Given the description of an element on the screen output the (x, y) to click on. 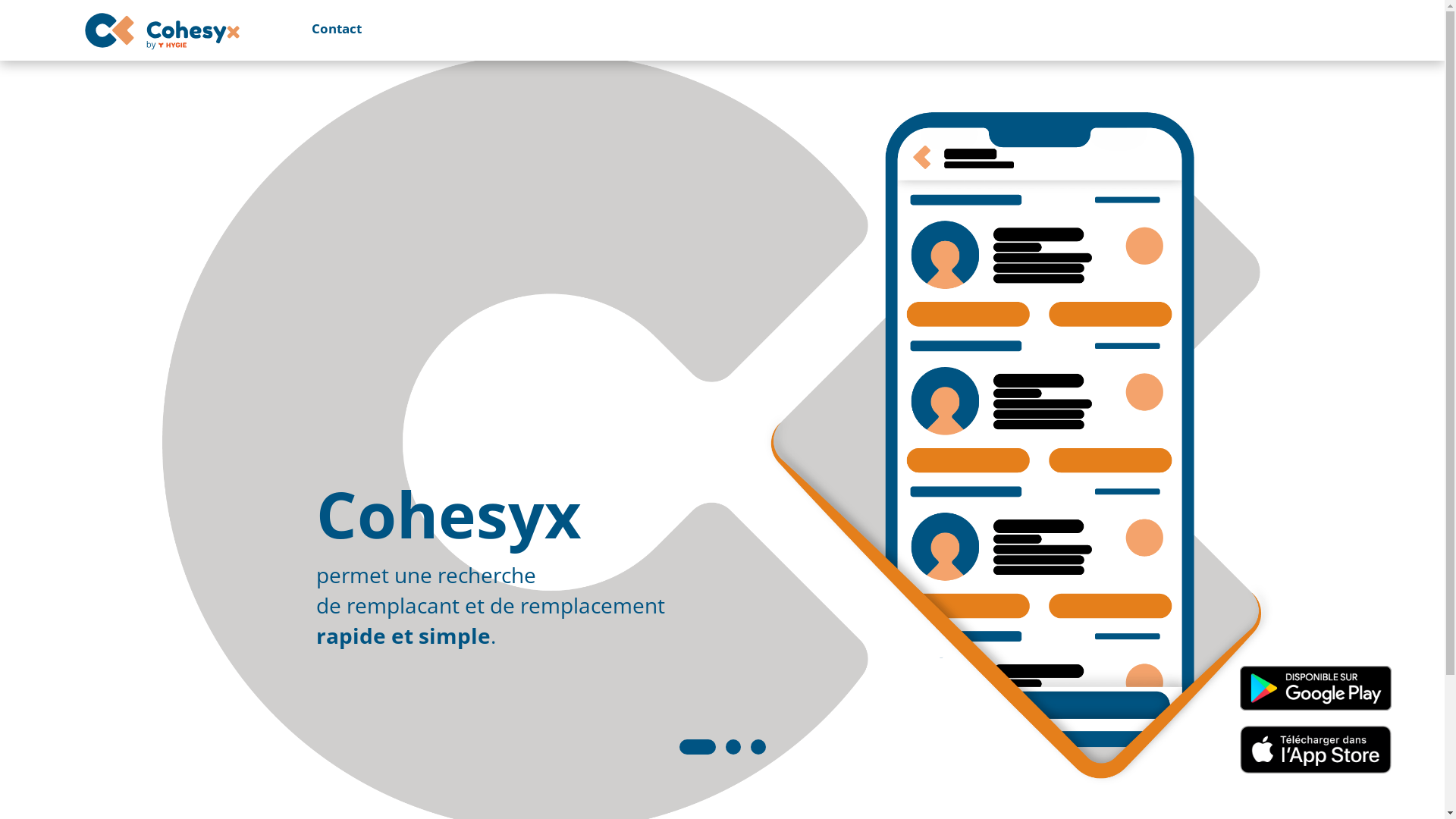
Contact Element type: text (324, 28)
